Given the description of an element on the screen output the (x, y) to click on. 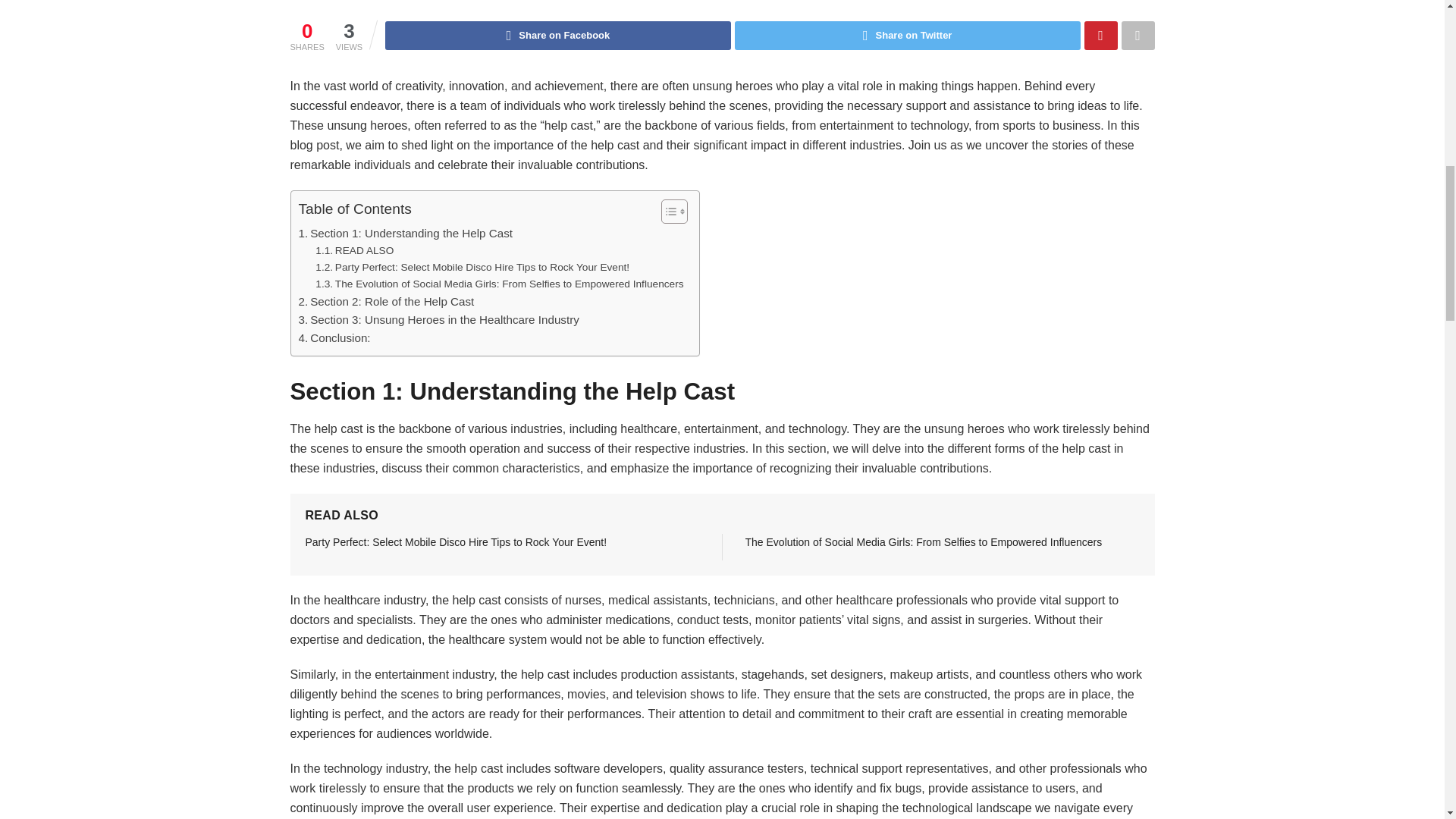
Section 2: Role of the Help Cast (386, 301)
Conclusion: (334, 338)
Section 1: Understanding the Help Cast (405, 233)
Section 3: Unsung Heroes in the Healthcare Industry (438, 320)
READ ALSO (354, 250)
